Given the description of an element on the screen output the (x, y) to click on. 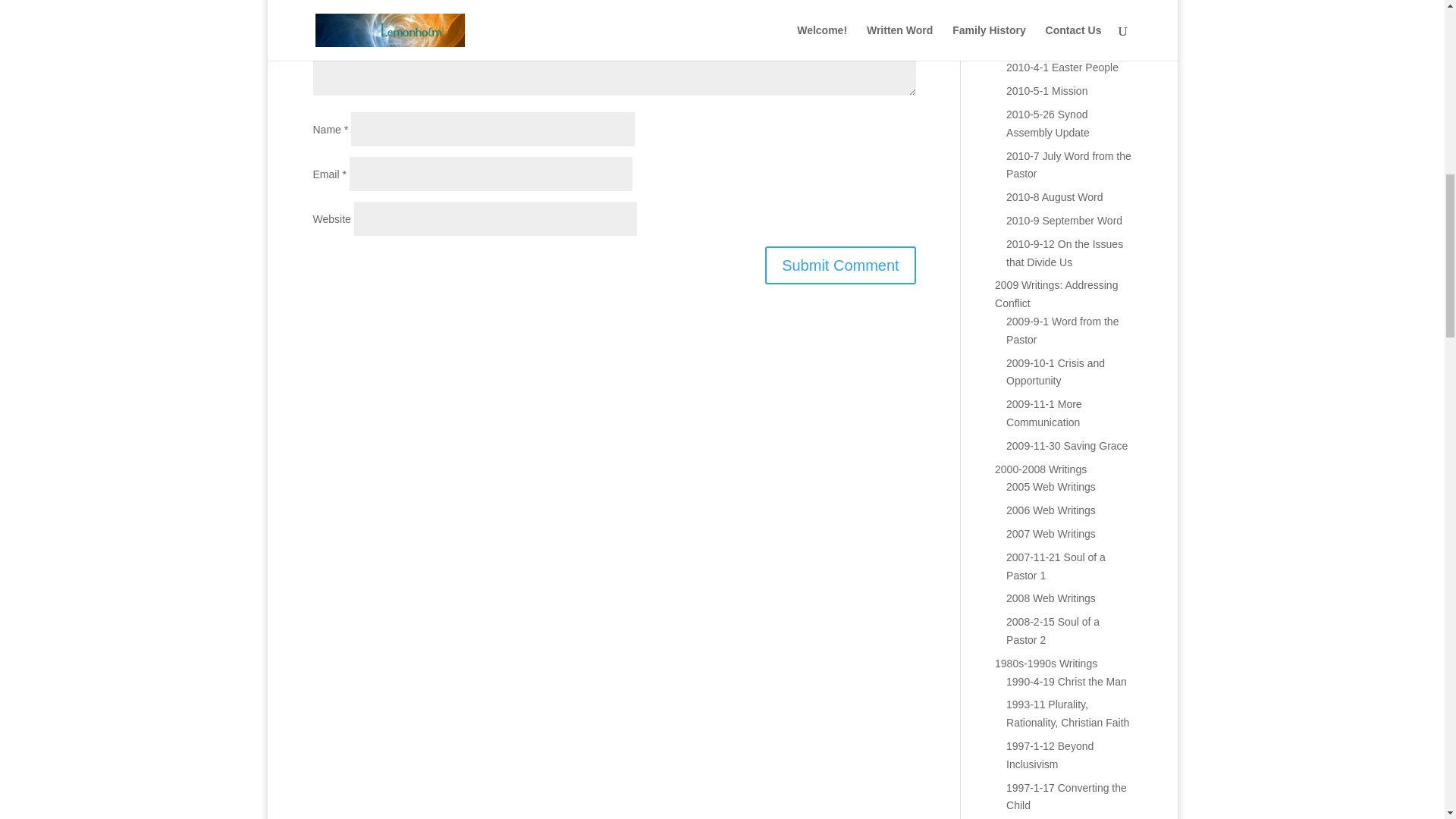
2010-2-1 Pastoral (1048, 21)
2010-9 September Word (1064, 220)
2009-11-1 More Communication (1043, 413)
2010-8 August Word (1054, 196)
2010-9-12 On the Issues that Divide Us (1064, 253)
Submit Comment (840, 265)
2010-1-1 Colossians 3 Church (1059, 2)
2009-10-1 Crisis and Opportunity (1055, 372)
2010-7 July Word from the Pastor (1068, 164)
2009-9-1 Word from the Pastor (1062, 330)
